Given the description of an element on the screen output the (x, y) to click on. 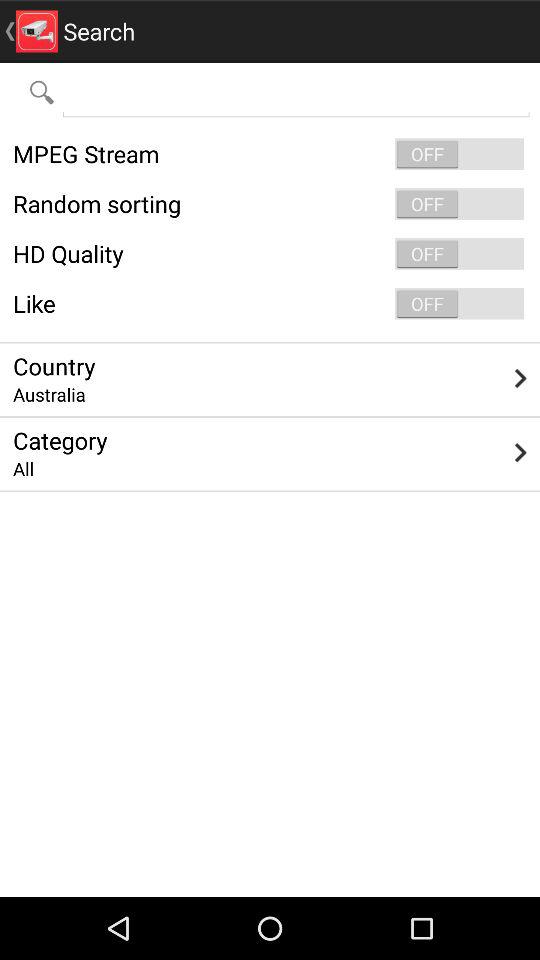
turn off the mpeg stream item (269, 153)
